Given the description of an element on the screen output the (x, y) to click on. 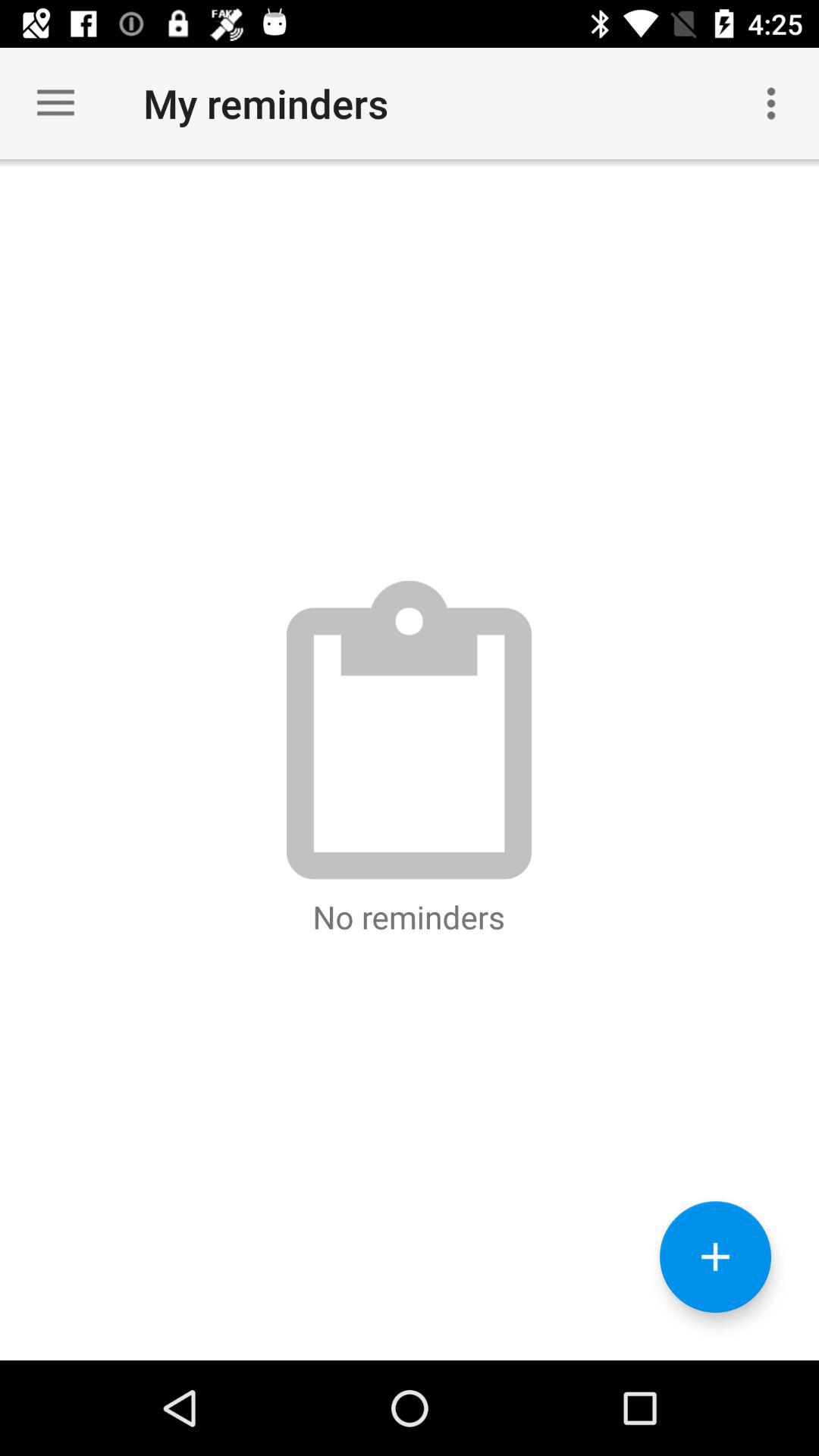
tap the icon next to my reminders item (771, 103)
